Given the description of an element on the screen output the (x, y) to click on. 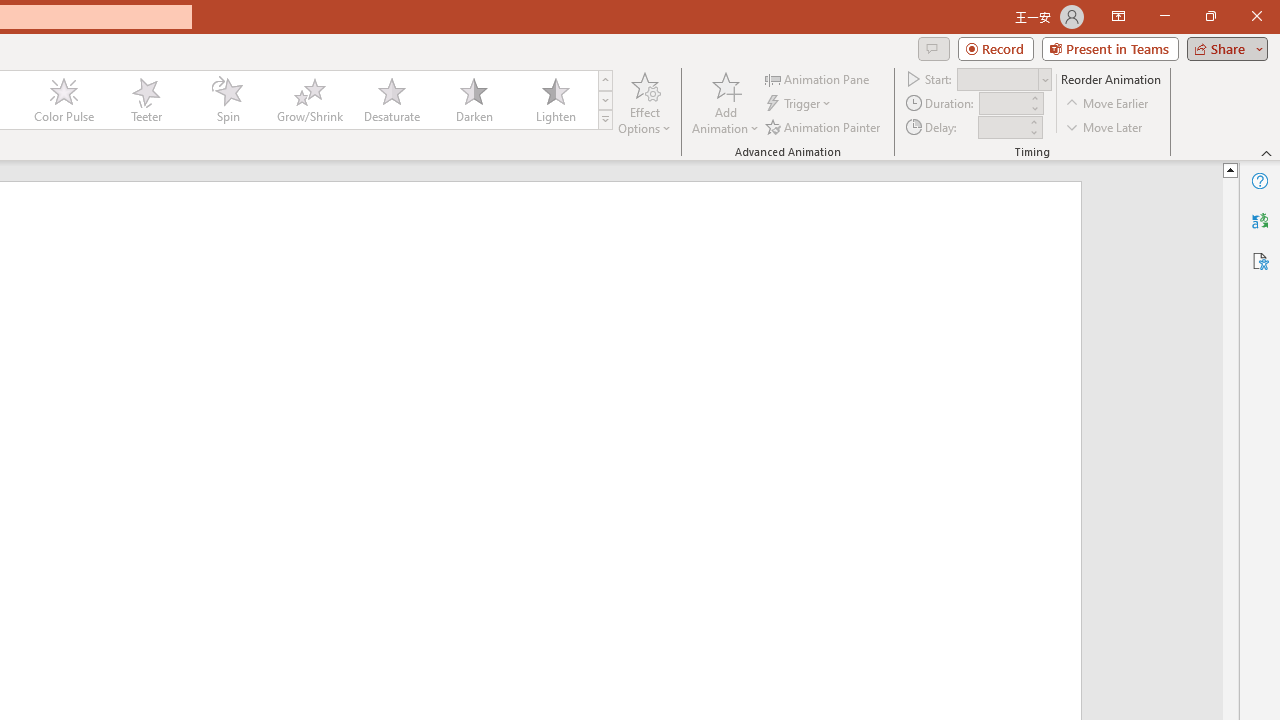
Animation Pane (818, 78)
Add Animation (725, 102)
Animation Painter (824, 126)
Move Earlier (1107, 103)
Teeter (145, 100)
More (1033, 121)
Color Pulse (63, 100)
